Given the description of an element on the screen output the (x, y) to click on. 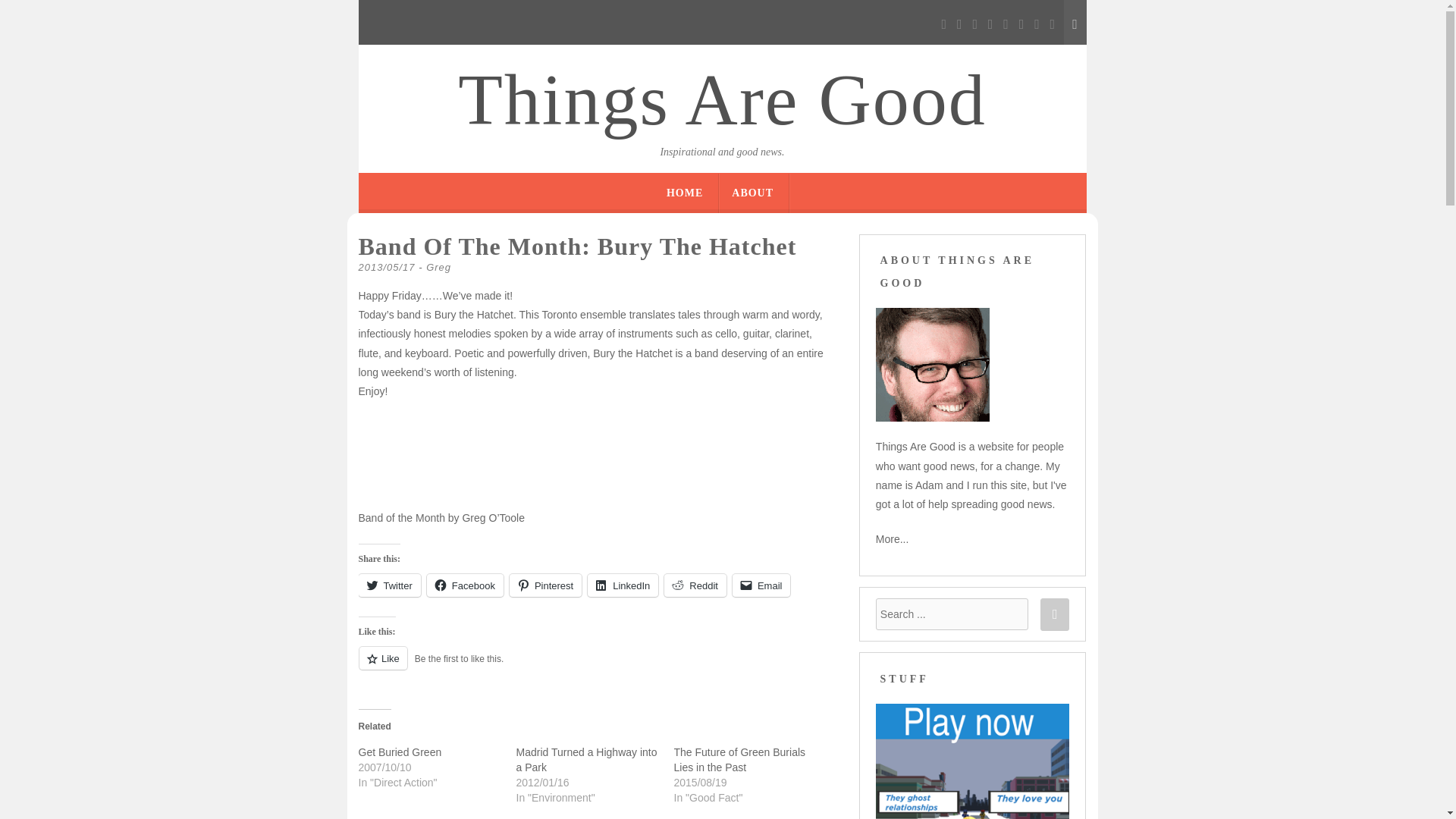
HOME (684, 192)
Bury the Hatchet (631, 353)
Bury the Hatchet (473, 314)
Reddit (694, 585)
Twitter (389, 585)
Click to email a link to a friend (761, 585)
Click to share on LinkedIn (623, 585)
Like or Reblog (596, 666)
The Future of Green Burials Lies in the Past (738, 759)
Greg (438, 266)
Click to share on Facebook (464, 585)
Madrid Turned a Highway into a Park (585, 759)
Things Are Good (722, 99)
Email (761, 585)
Get Buried Green (399, 752)
